Given the description of an element on the screen output the (x, y) to click on. 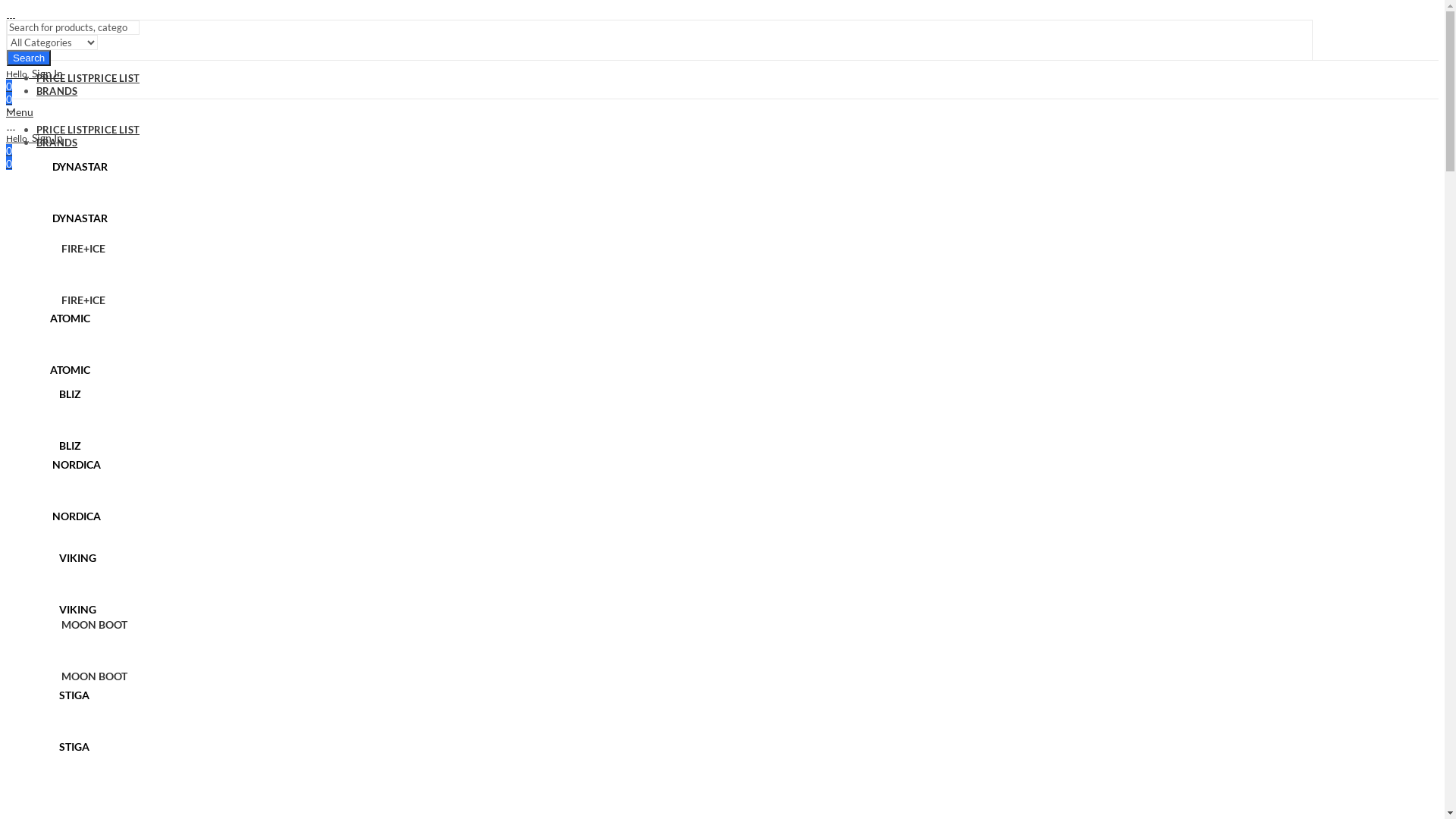
BRANDS Element type: text (56, 142)
0 Element type: text (9, 85)
0 Element type: text (659, 162)
0 Element type: text (9, 150)
Hello, Sign In Element type: text (659, 137)
Search Element type: text (28, 57)
Menu Element type: text (19, 111)
Hello, Sign In Element type: text (659, 72)
PRICE LISTPRICE LIST Element type: text (87, 129)
BRANDS Element type: text (56, 90)
PRICE LISTPRICE LIST Element type: text (87, 78)
0 Element type: text (659, 98)
